Given the description of an element on the screen output the (x, y) to click on. 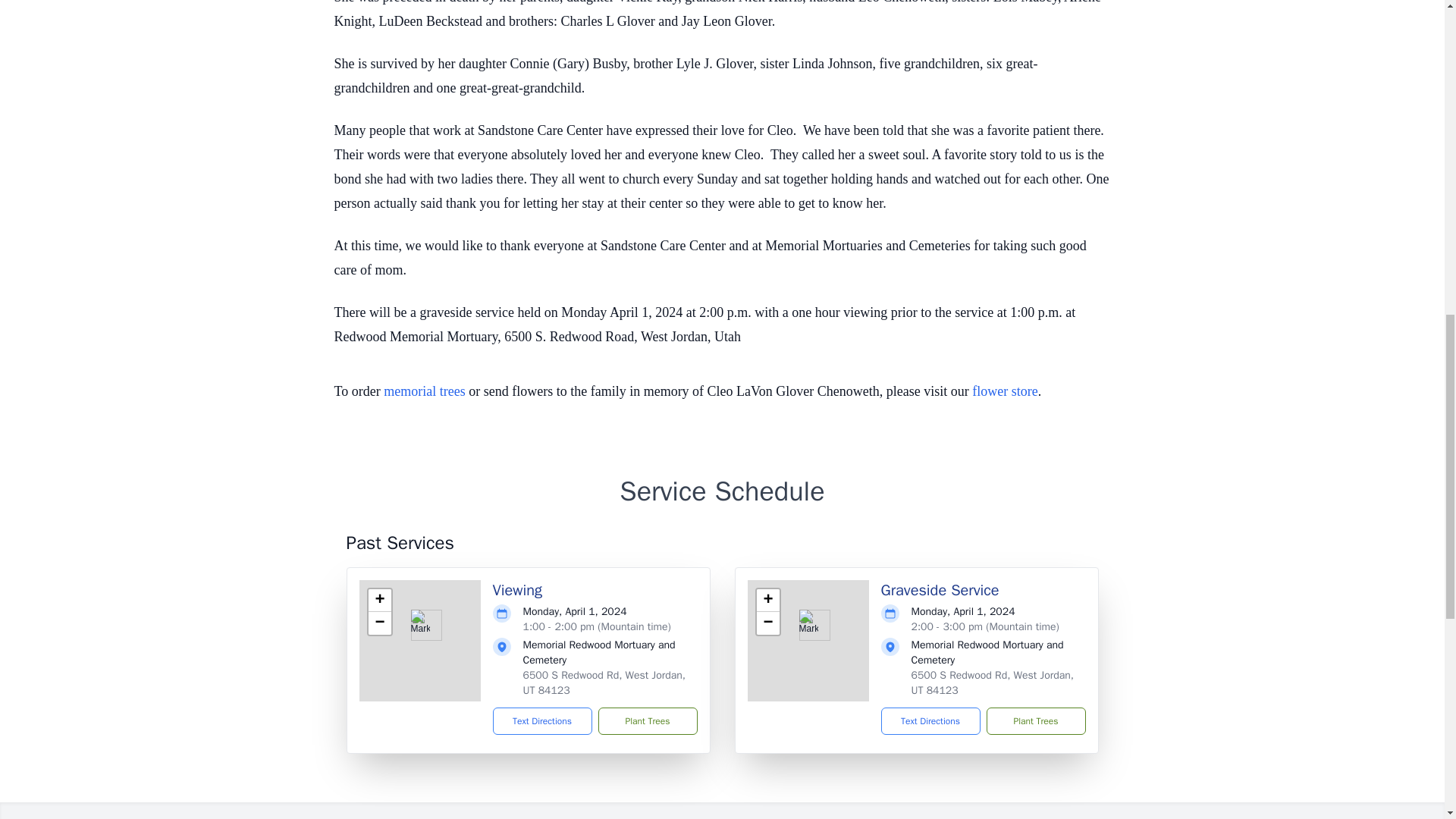
Text Directions (929, 720)
memorial trees (424, 391)
flower store (1004, 391)
Zoom out (767, 622)
6500 S Redwood Rd, West Jordan, UT 84123 (603, 682)
Zoom in (379, 599)
Zoom in (767, 599)
Zoom out (379, 622)
Plant Trees (646, 720)
Text Directions (542, 720)
Plant Trees (1034, 720)
6500 S Redwood Rd, West Jordan, UT 84123 (992, 682)
